Given the description of an element on the screen output the (x, y) to click on. 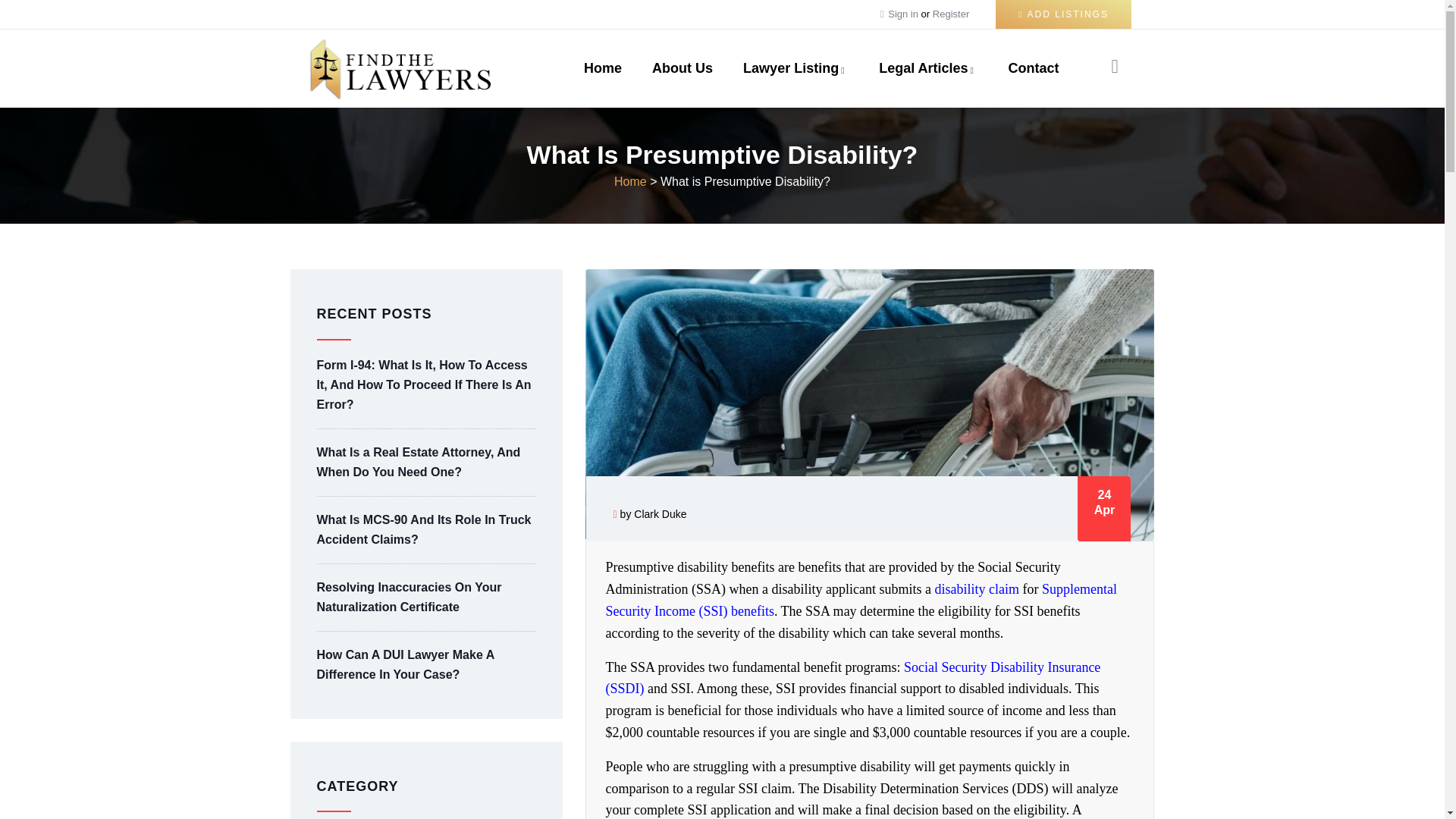
Legal Articles (927, 68)
Lawyer Listing (795, 68)
ADD LISTINGS (1063, 14)
Home (400, 67)
About Us (682, 68)
Go to Home. (630, 181)
Register (951, 13)
Home (603, 68)
Go to What is Presumptive Disability?. (745, 181)
Sign in (904, 13)
